Given the description of an element on the screen output the (x, y) to click on. 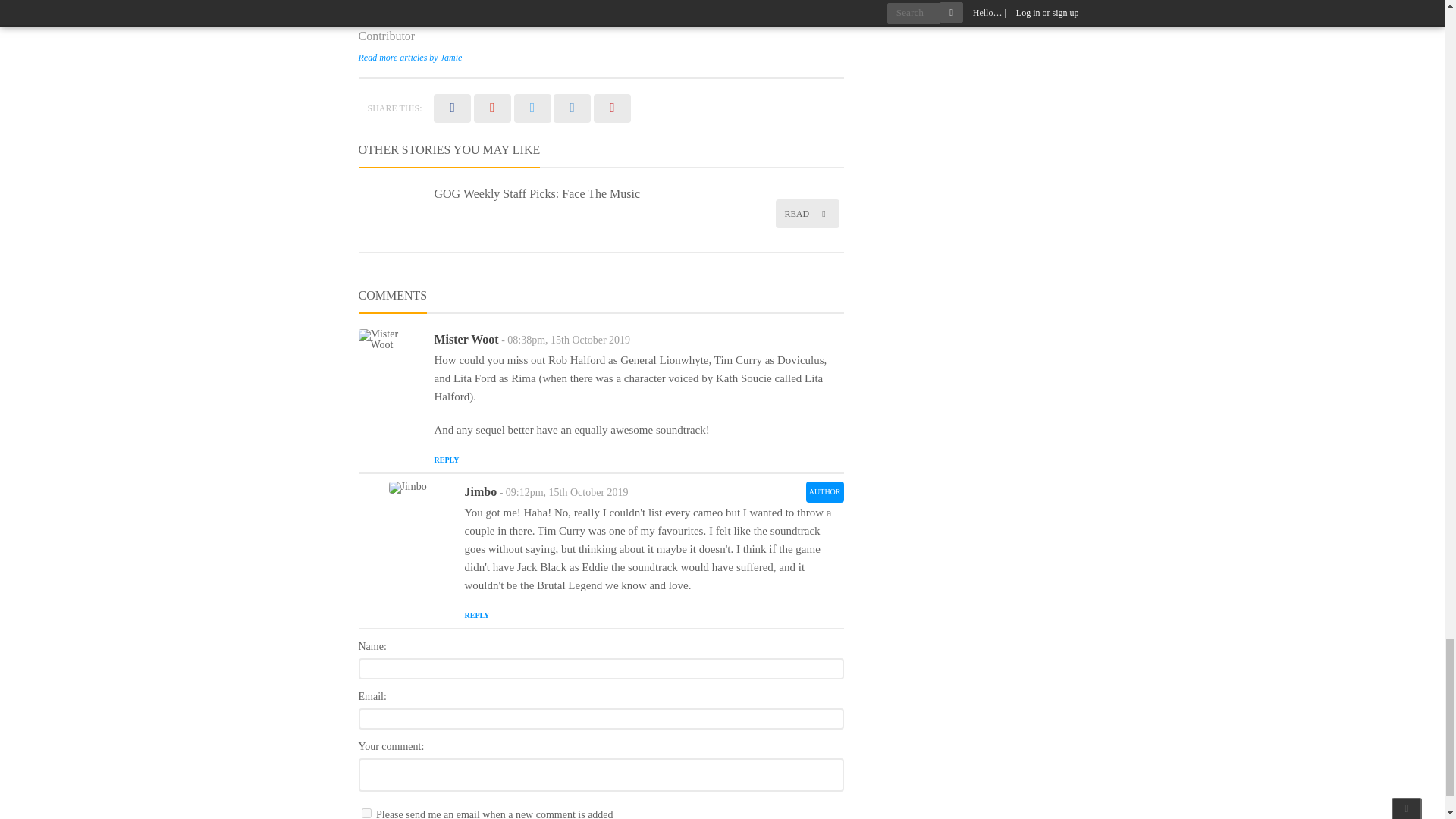
REPLY (476, 614)
on (366, 813)
Read more articles by Jamie (409, 57)
READ (806, 213)
REPLY (445, 459)
GOG Weekly Staff Picks: Face The Music (536, 193)
